Given the description of an element on the screen output the (x, y) to click on. 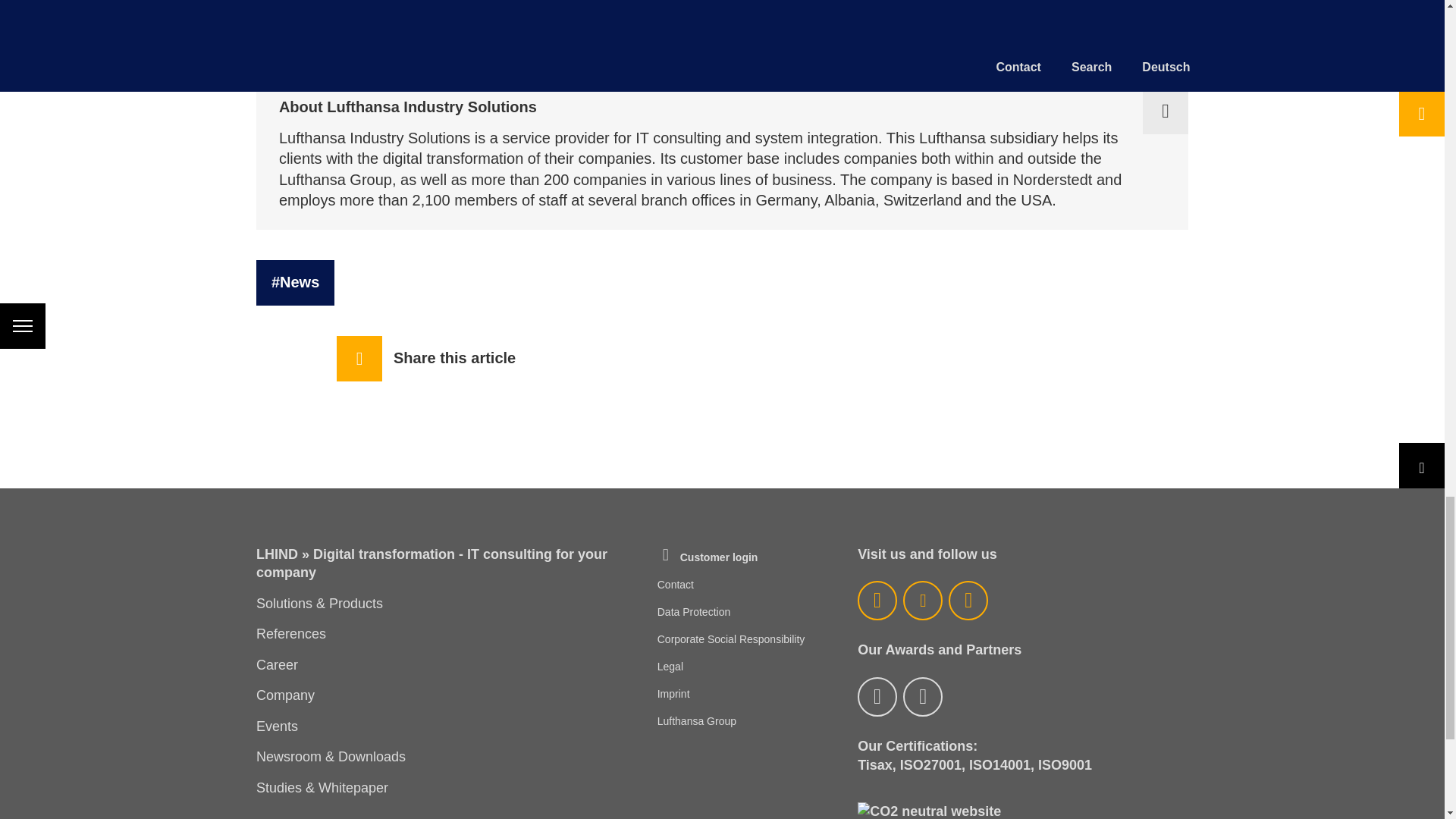
Company (414, 9)
Awards (285, 695)
Corporate Social Responsibility (876, 696)
Career (731, 638)
Strategic Partners (277, 665)
Share this article (922, 696)
Customer login (425, 358)
Contact (708, 556)
Legal (676, 584)
